Given the description of an element on the screen output the (x, y) to click on. 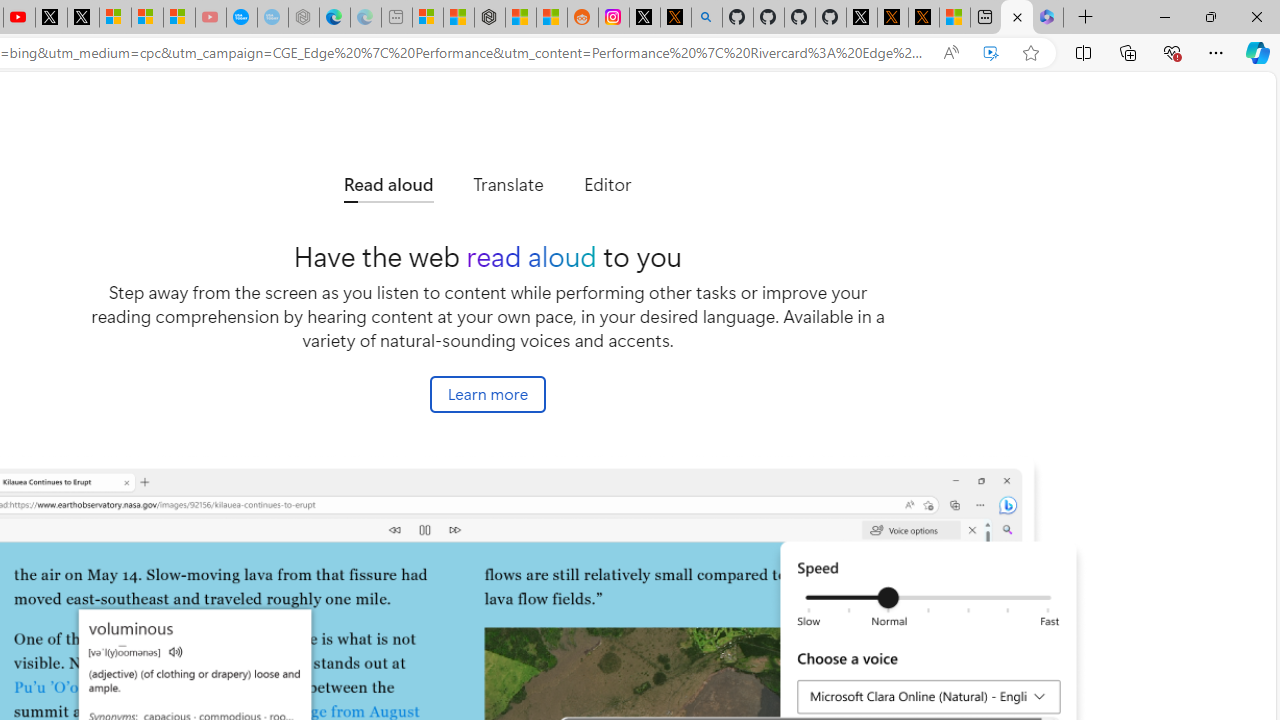
Profile / X (861, 17)
Shanghai, China Weather trends | Microsoft Weather (551, 17)
Nordace - Nordace has arrived Hong Kong - Sleeping (303, 17)
X (82, 17)
Enhance video (991, 53)
Opinion: Op-Ed and Commentary - USA TODAY (241, 17)
help.x.com | 524: A timeout occurred (675, 17)
The most popular Google 'how to' searches - Sleeping (272, 17)
